Given the description of an element on the screen output the (x, y) to click on. 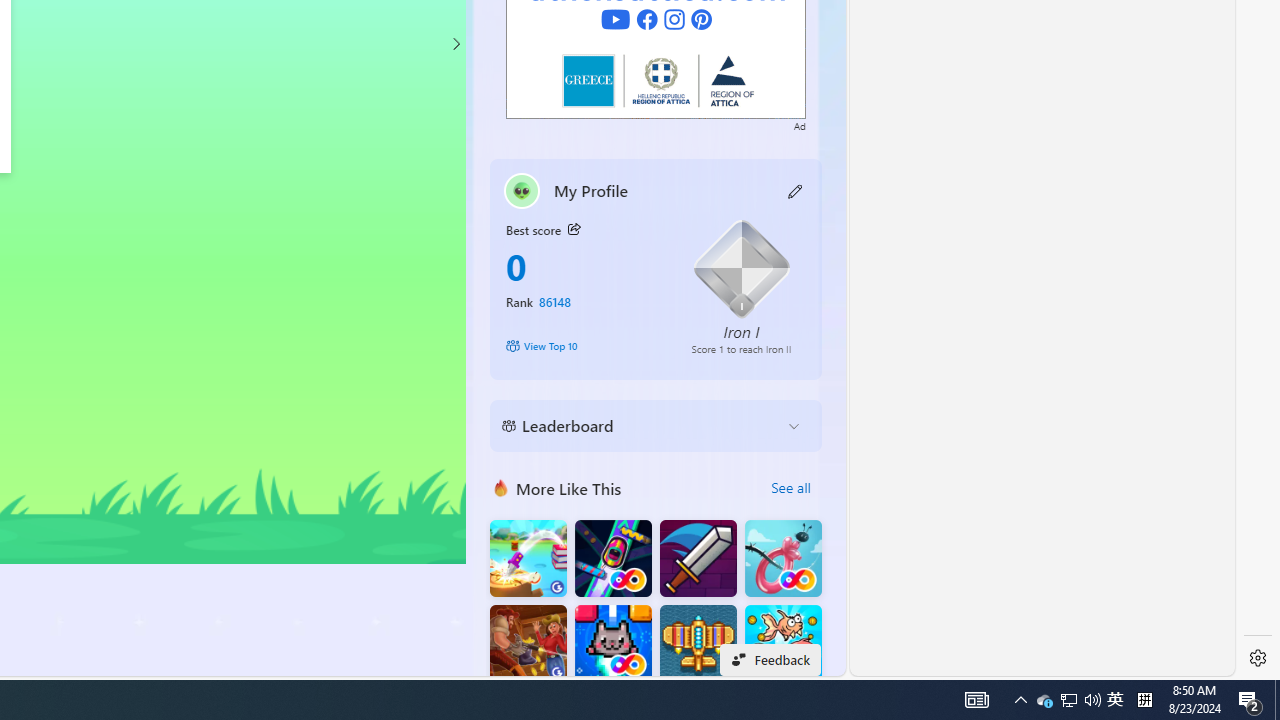
See all (790, 487)
Dungeon Master Knight (698, 558)
Balloon FRVR (783, 558)
Fish Merge FRVR (783, 643)
Class: button (574, 229)
More Like This (501, 487)
Class: button edit-icon (795, 190)
Saloon Robbery (528, 643)
Kitten Force FRVR (612, 643)
""'s avatar (522, 190)
Leaderboard (639, 425)
Knife Flip (528, 558)
